Given the description of an element on the screen output the (x, y) to click on. 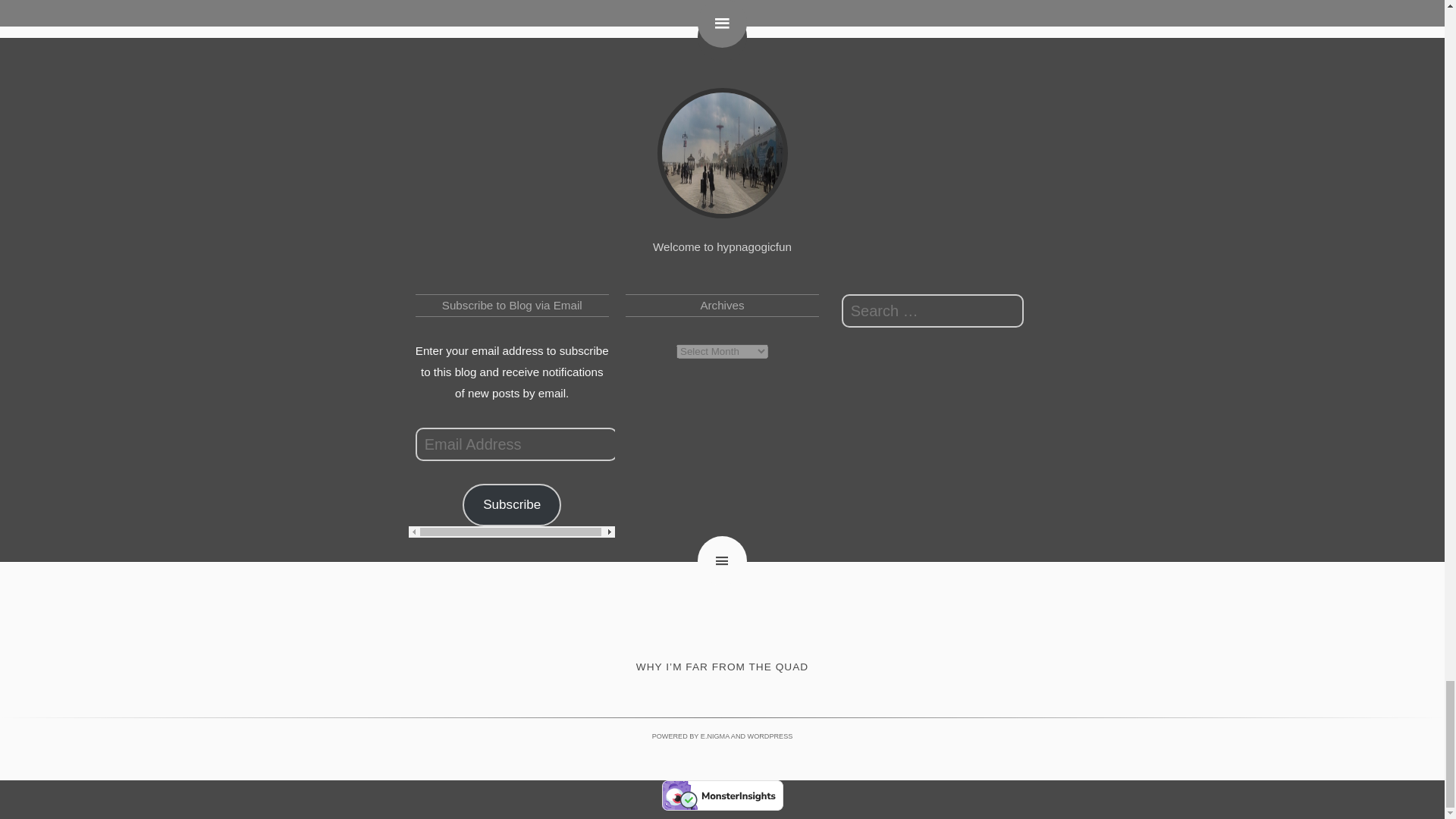
Verified by MonsterInsights (722, 795)
hypnagogicfun (721, 152)
Search for: (932, 310)
